Given the description of an element on the screen output the (x, y) to click on. 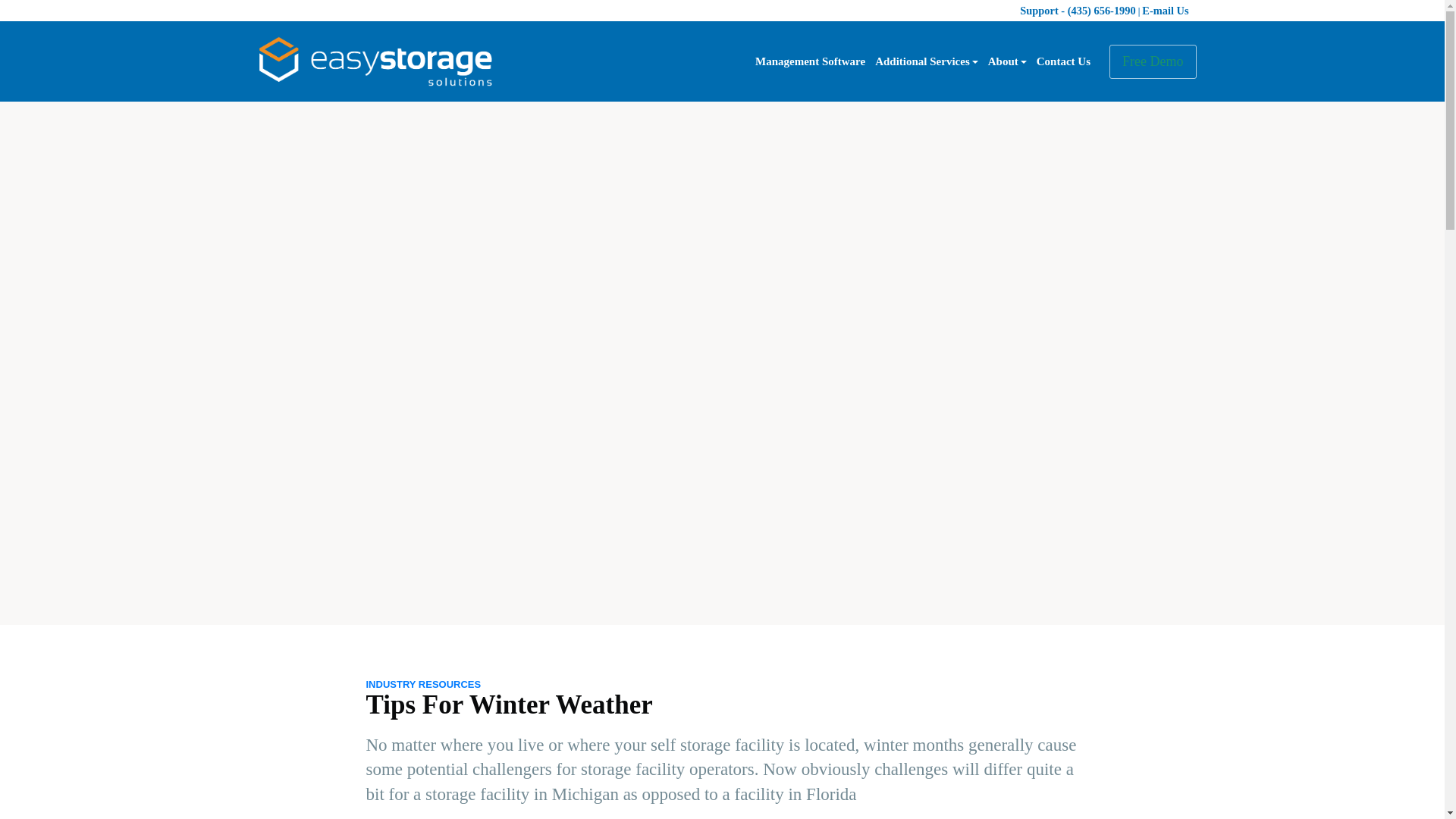
Free Demo (1152, 61)
INDUSTRY RESOURCES (422, 684)
Contact Us (1063, 61)
Management Software (810, 61)
E-mail Us (1164, 10)
Additional Services (925, 61)
About (1007, 61)
